Given the description of an element on the screen output the (x, y) to click on. 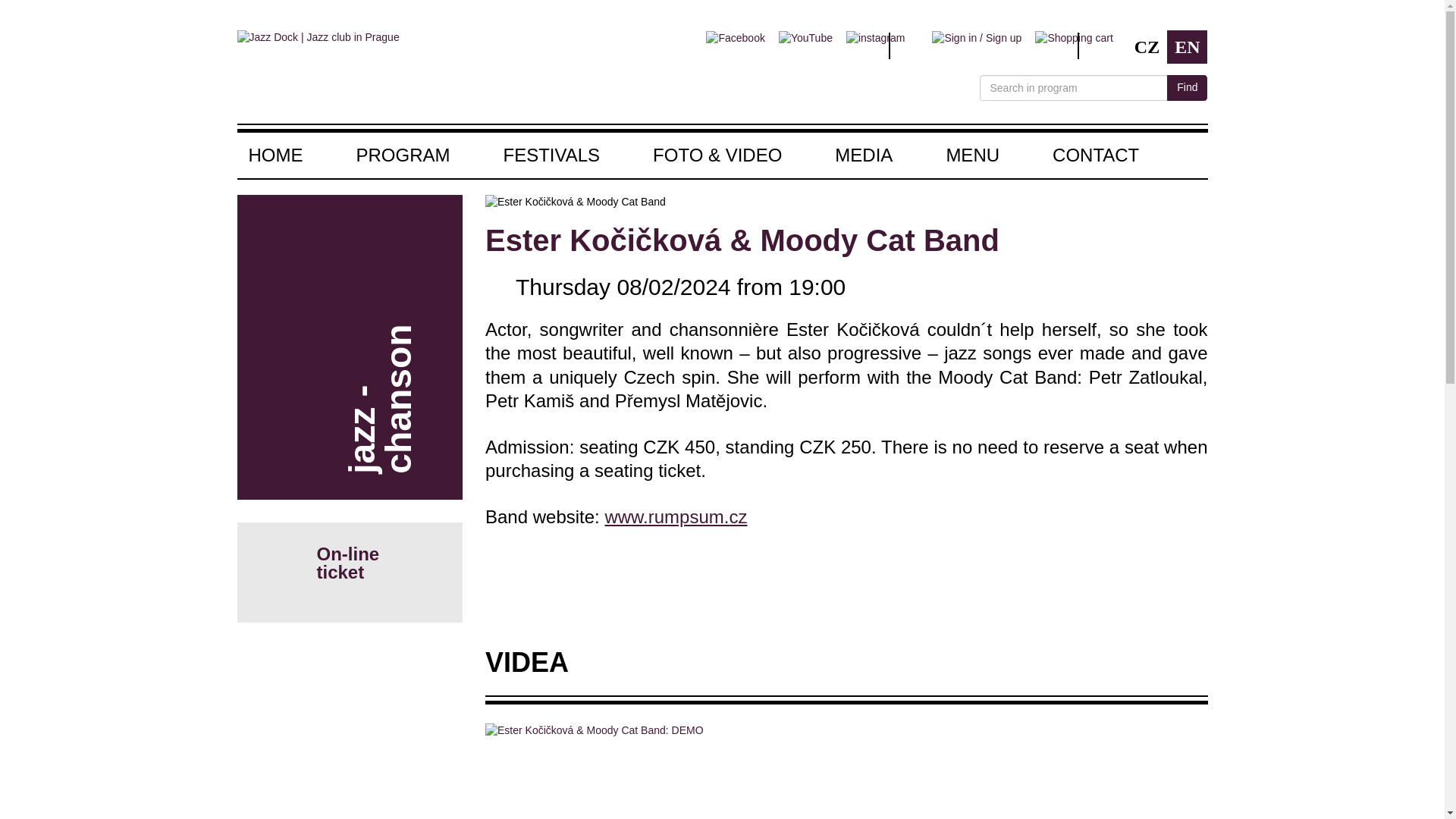
CONTACT (1082, 155)
FESTIVALS (552, 155)
PROGRAM (402, 155)
HOME (289, 155)
EN (1187, 46)
Find (1187, 87)
MENU (972, 155)
MEDIA (863, 155)
CZ (1146, 46)
www.rumpsum.cz (675, 516)
